Given the description of an element on the screen output the (x, y) to click on. 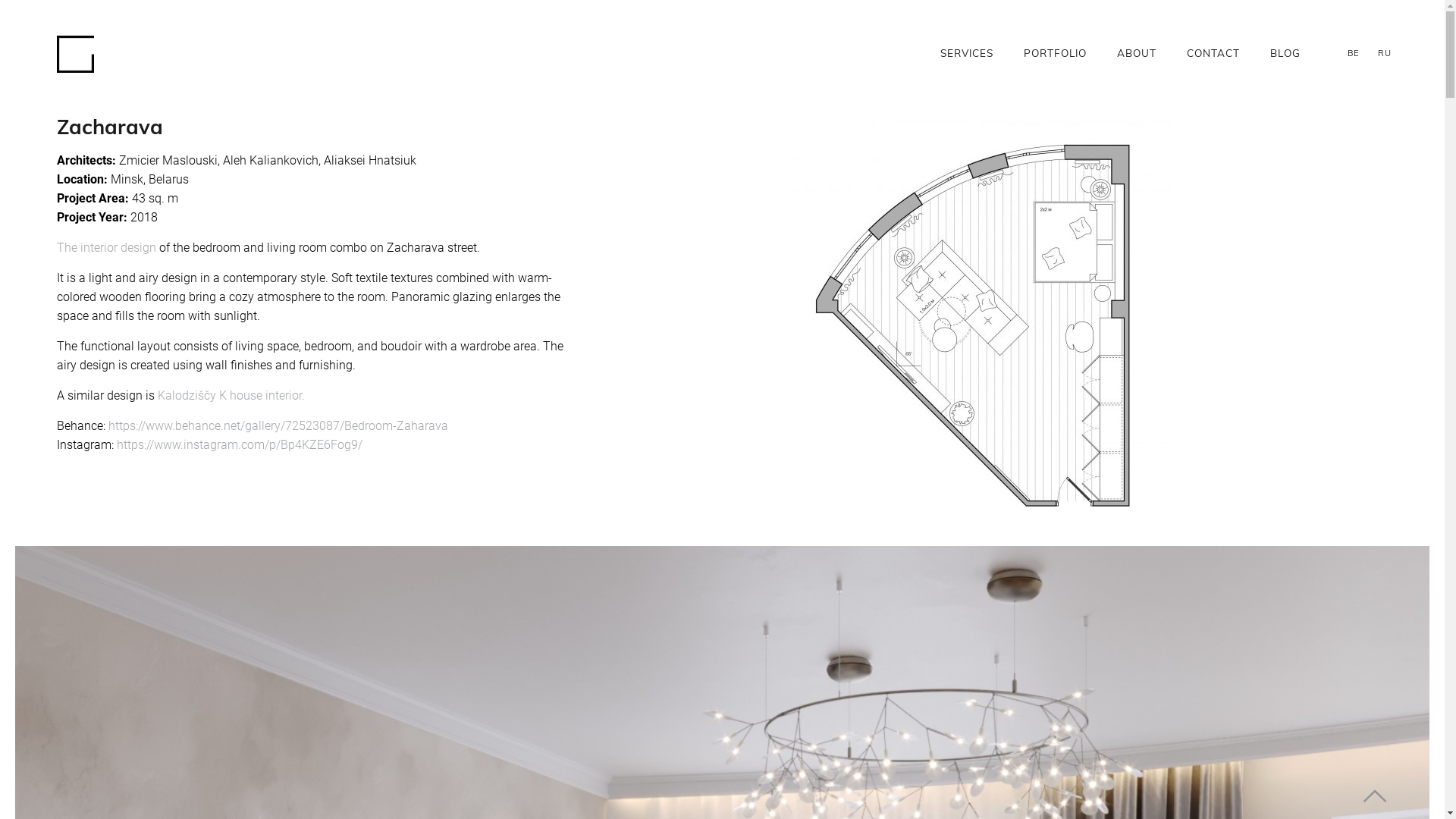
The interior design Element type: text (106, 247)
RU Element type: text (1383, 52)
ABOUT Element type: text (1136, 52)
SERVICES Element type: text (966, 52)
BE Element type: text (1353, 52)
https://www.instagram.com/p/Bp4KZE6Fog9/ Element type: text (239, 444)
CONTACT Element type: text (1213, 52)
https://www.behance.net/gallery/72523087/Bedroom-Zaharava Element type: text (278, 425)
PORTFOLIO Element type: text (1054, 52)
BLOG Element type: text (1285, 52)
